Given the description of an element on the screen output the (x, y) to click on. 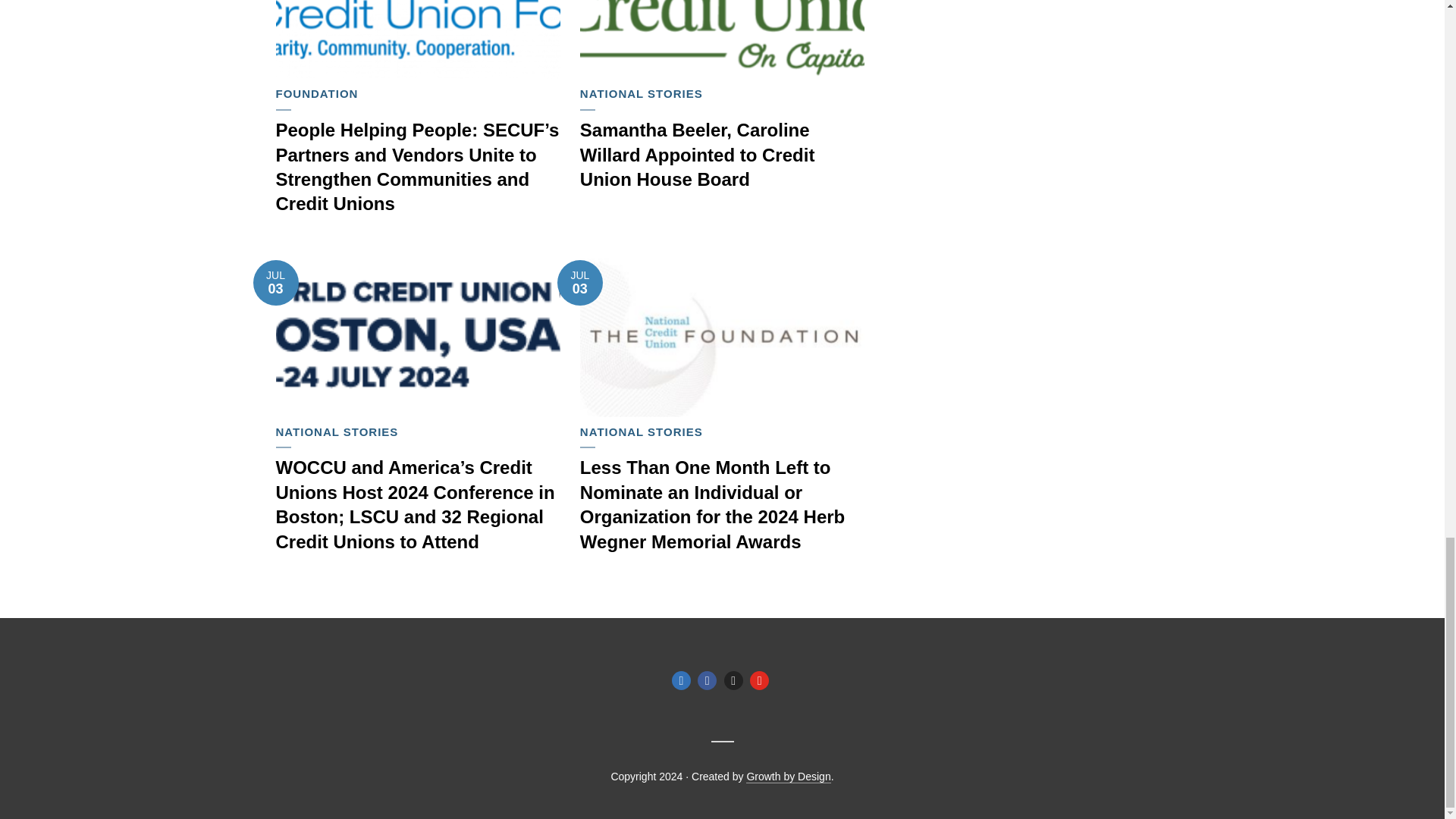
Facebook (706, 680)
YouTube (758, 680)
Linkedin (680, 680)
